Given the description of an element on the screen output the (x, y) to click on. 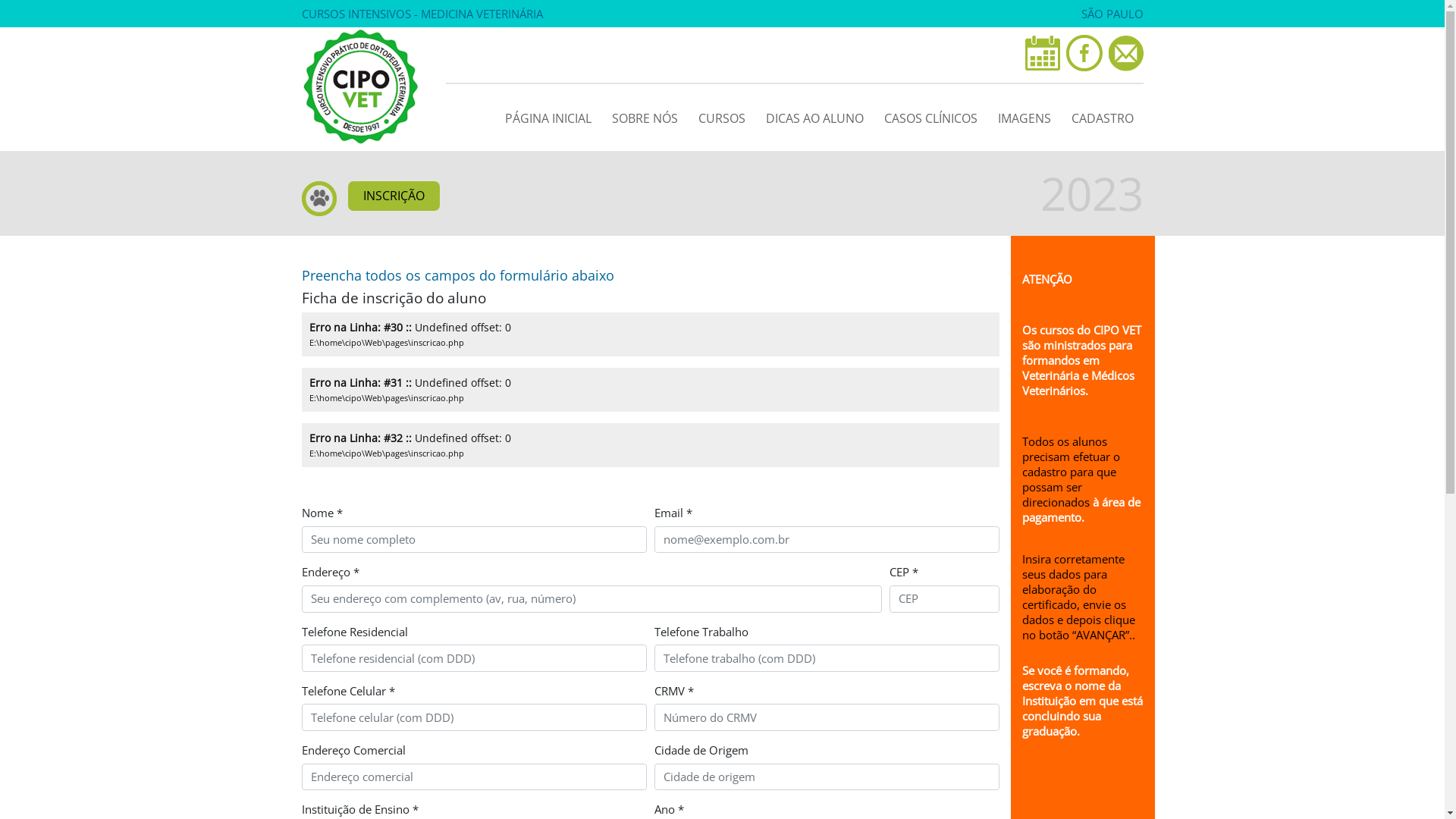
Agenda Element type: hover (1042, 52)
Facebook Element type: hover (1084, 52)
IMAGENS Element type: text (1023, 115)
CURSOS Element type: text (721, 115)
Fale conosco Element type: hover (1125, 52)
CADASTRO Element type: text (1102, 115)
DICAS AO ALUNO Element type: text (813, 115)
